Given the description of an element on the screen output the (x, y) to click on. 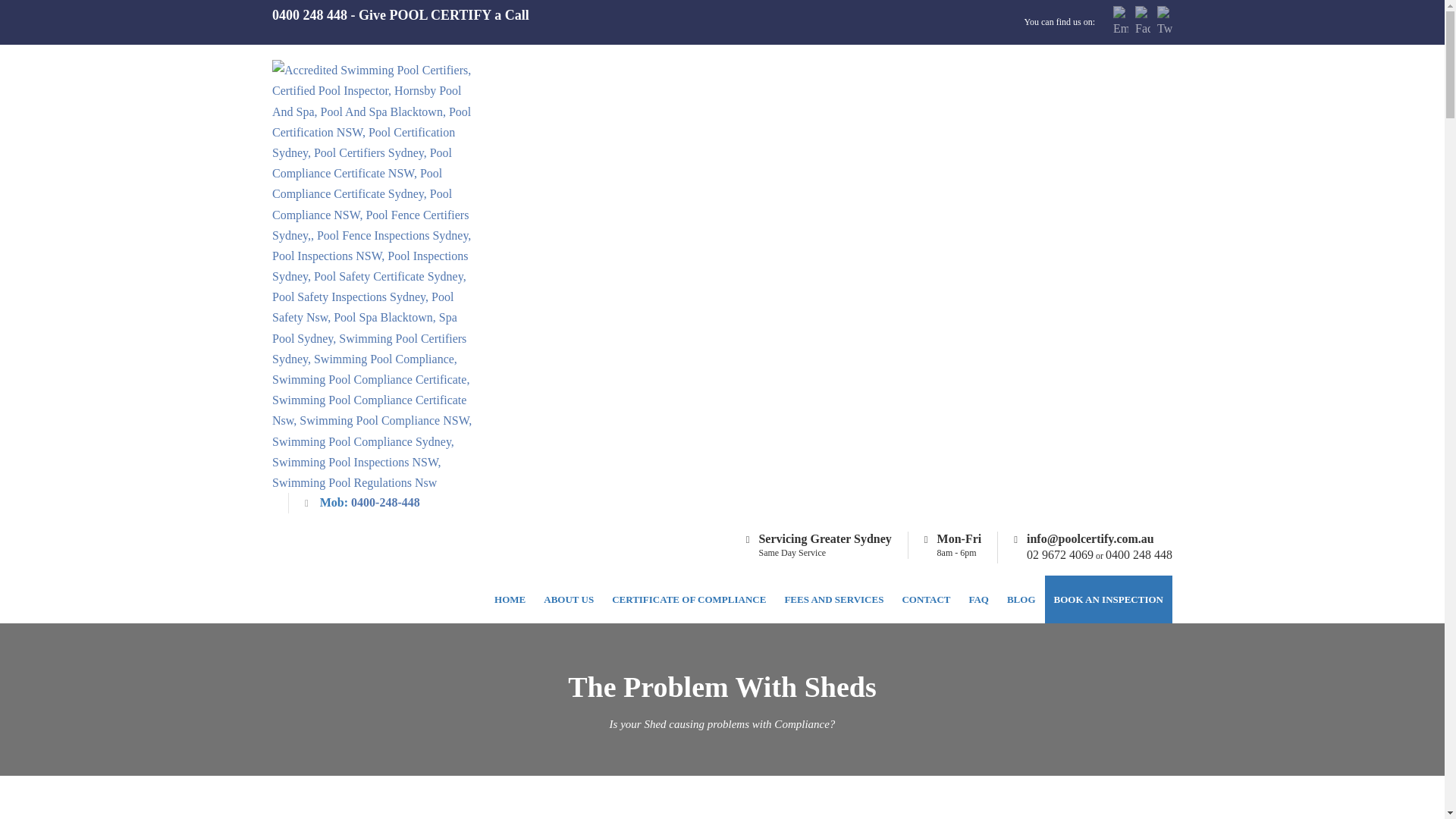
Pool Certify in Sydney Logo (374, 274)
0400 248 448 - Give POOL CERTIFY a Call (400, 15)
FEES AND SERVICES (833, 599)
ABOUT US (568, 599)
CERTIFICATE OF COMPLIANCE (688, 599)
BOOK AN INSPECTION (1108, 599)
FAQ (978, 599)
CONTACT (925, 599)
BLOG (1021, 599)
HOME (509, 599)
